Given the description of an element on the screen output the (x, y) to click on. 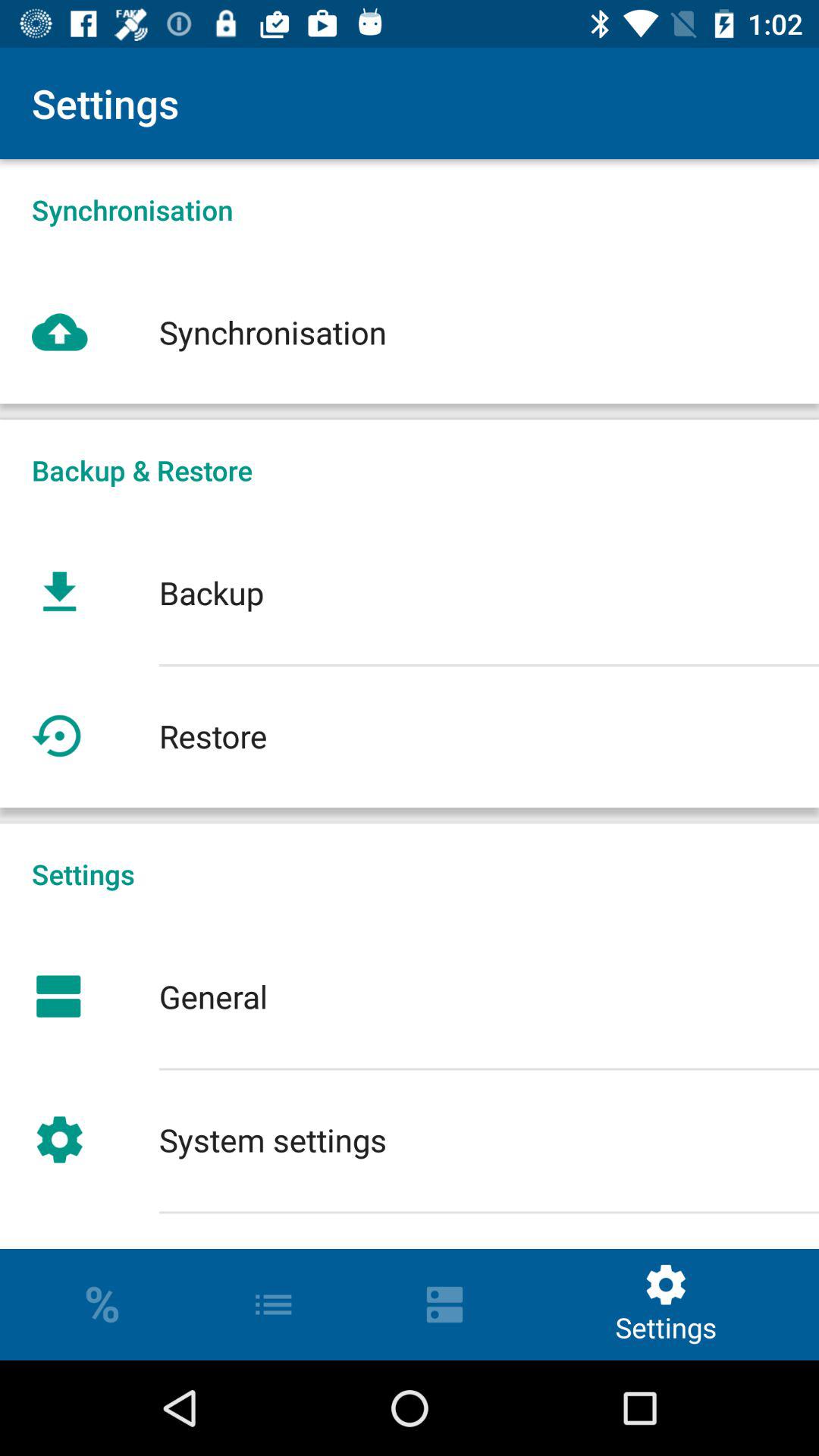
jump until general icon (409, 996)
